Given the description of an element on the screen output the (x, y) to click on. 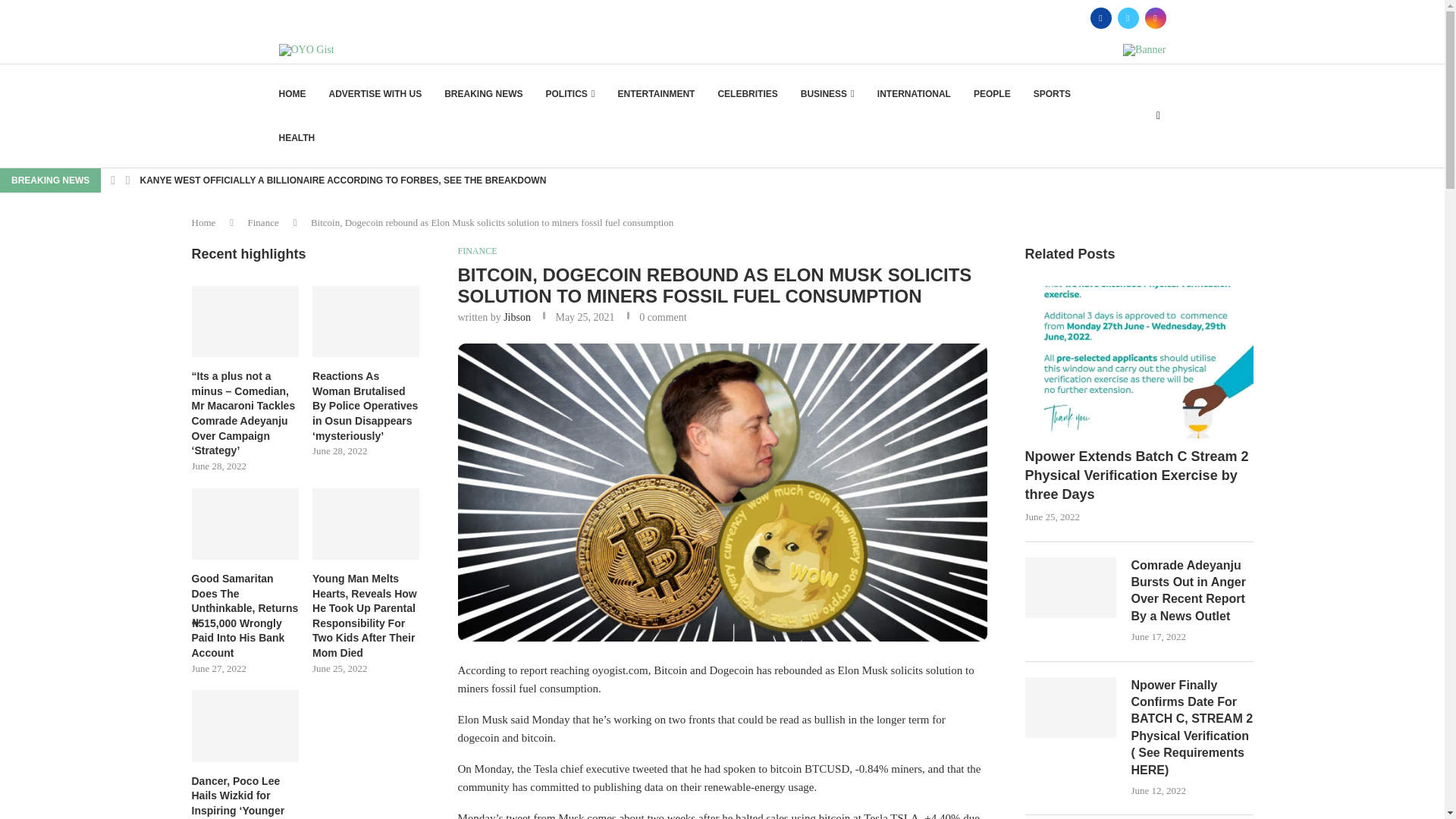
ENTERTAINMENT (656, 94)
BUSINESS (827, 94)
POLITICS (570, 94)
CELEBRITIES (747, 94)
ADVERTISE WITH US (375, 94)
INTERNATIONAL (913, 94)
